Given the description of an element on the screen output the (x, y) to click on. 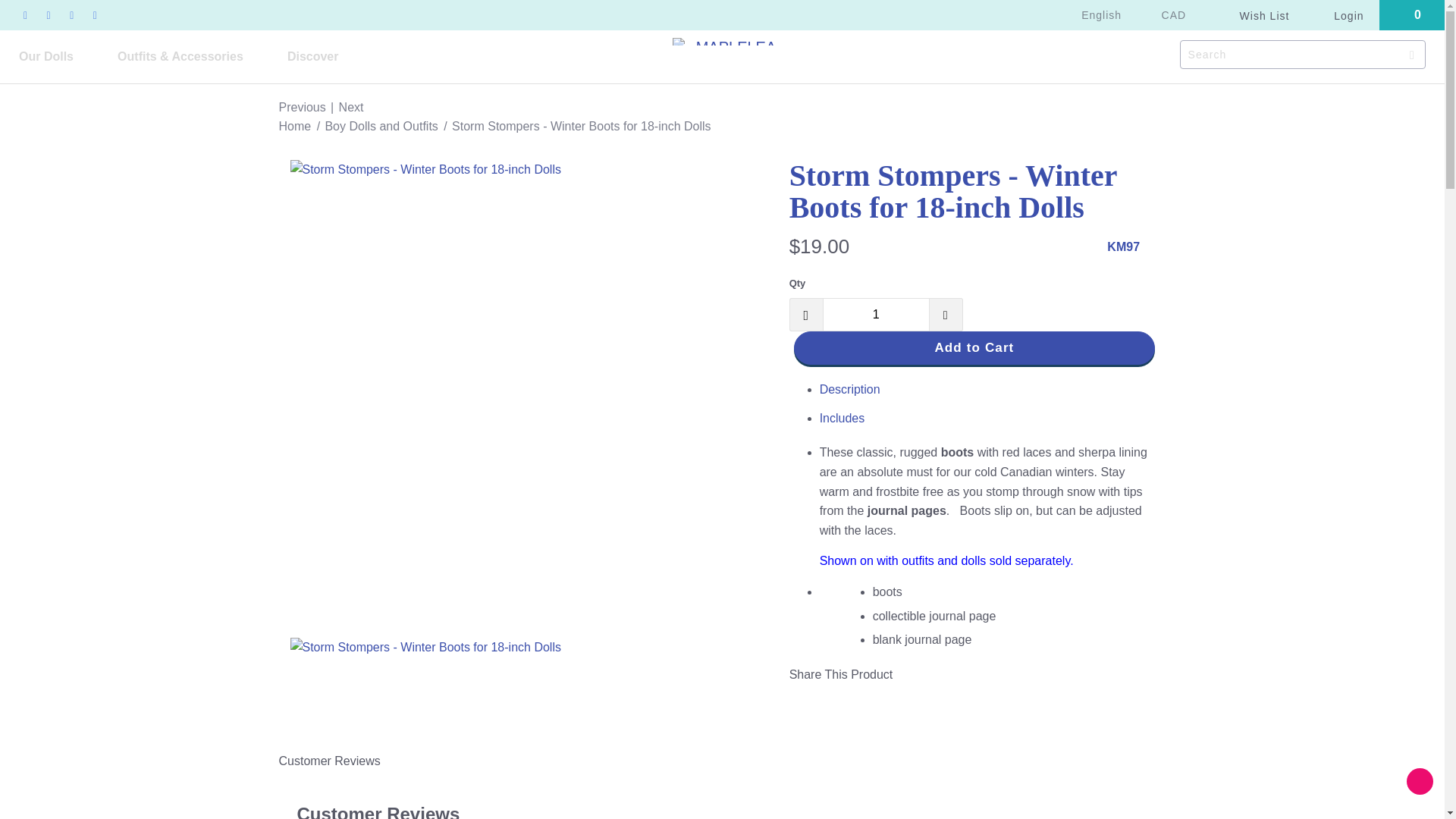
Maplelea on Pinterest (71, 15)
Maplelea on YouTube (48, 15)
Maplelea on Facebook (24, 15)
Maplelea (295, 125)
Maplelea (729, 41)
Maplelea on Instagram (94, 15)
1 (876, 314)
Previous (302, 106)
Next (351, 106)
Boy Dolls and Outfits (382, 125)
My Account  (1339, 15)
Wish List (1256, 15)
